Given the description of an element on the screen output the (x, y) to click on. 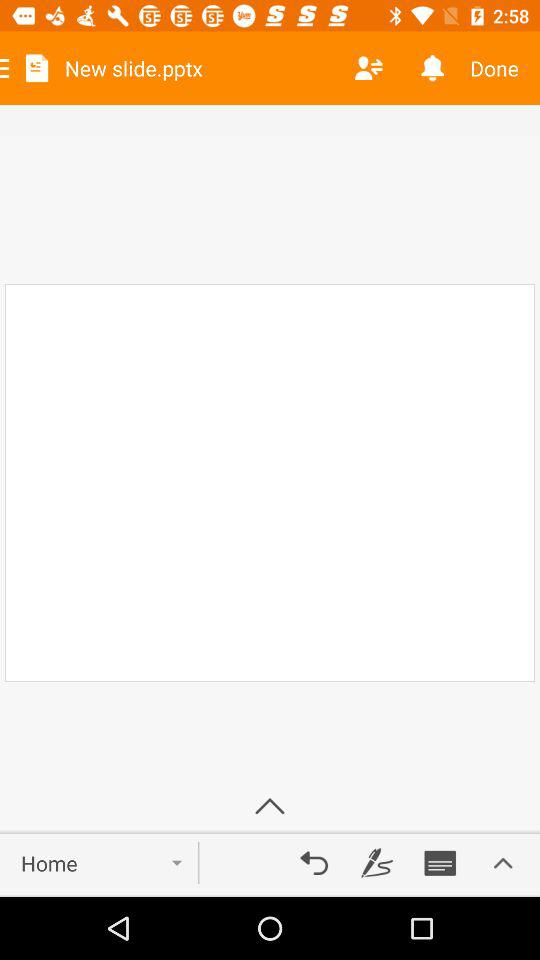
switch accounts (368, 68)
